Given the description of an element on the screen output the (x, y) to click on. 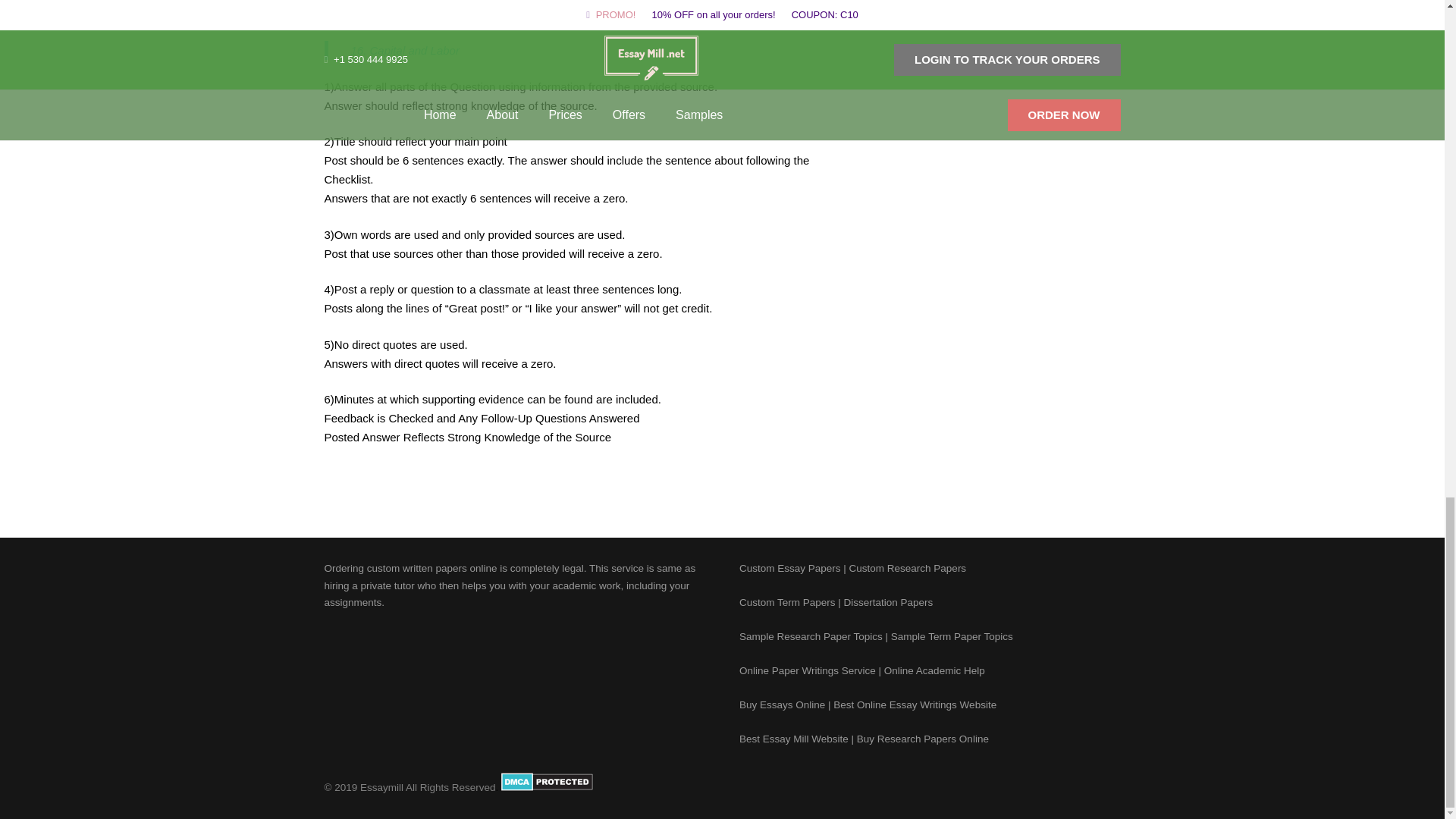
16. Capital and Labor (404, 50)
